Given the description of an element on the screen output the (x, y) to click on. 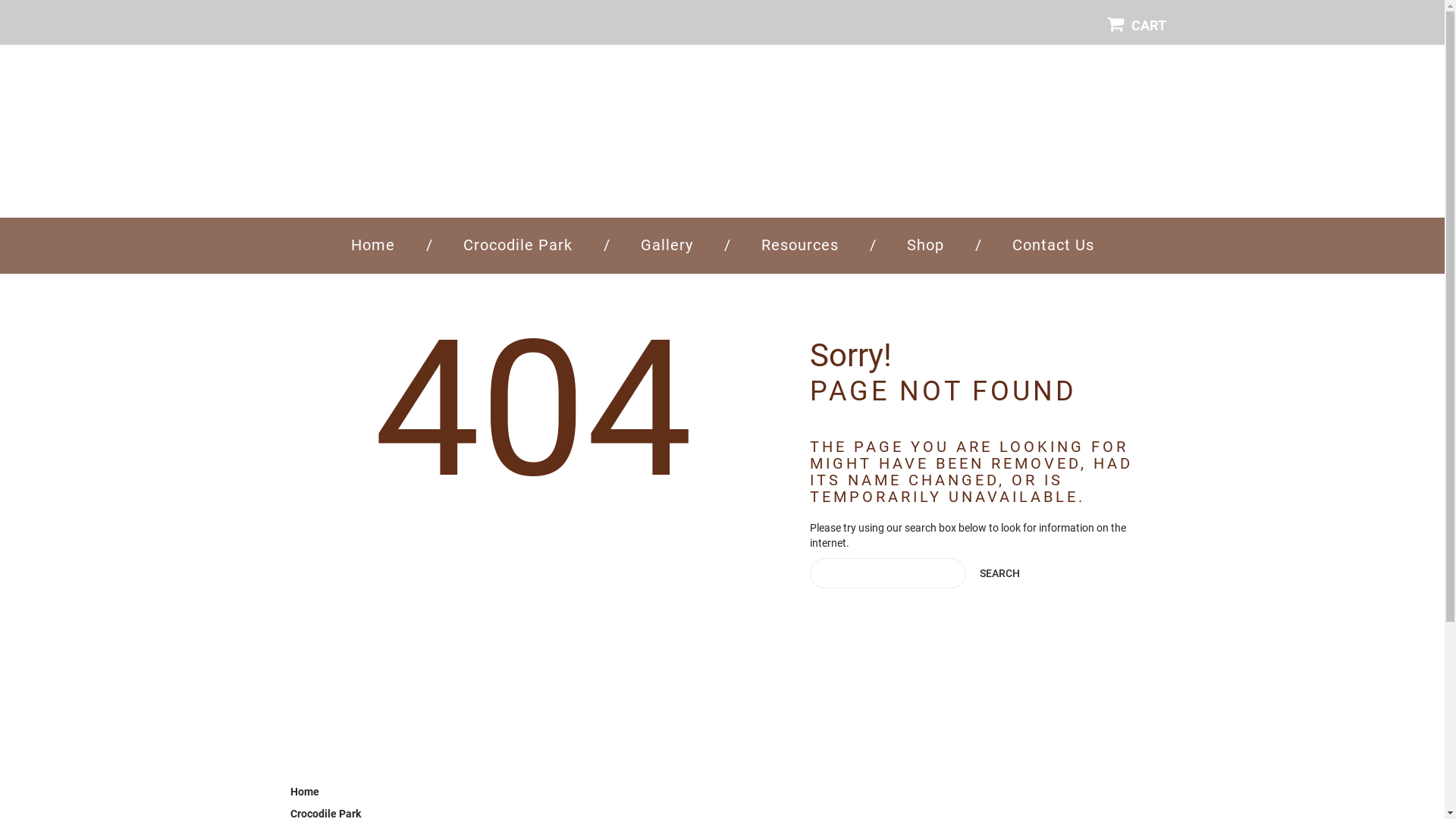
Resources Element type: text (799, 244)
Gallery Element type: text (666, 244)
Home Element type: text (372, 244)
Contact Us Element type: text (1052, 244)
Shop Element type: text (925, 244)
search Element type: text (998, 573)
Crocodile Park Element type: text (516, 244)
Home Element type: text (303, 791)
